Given the description of an element on the screen output the (x, y) to click on. 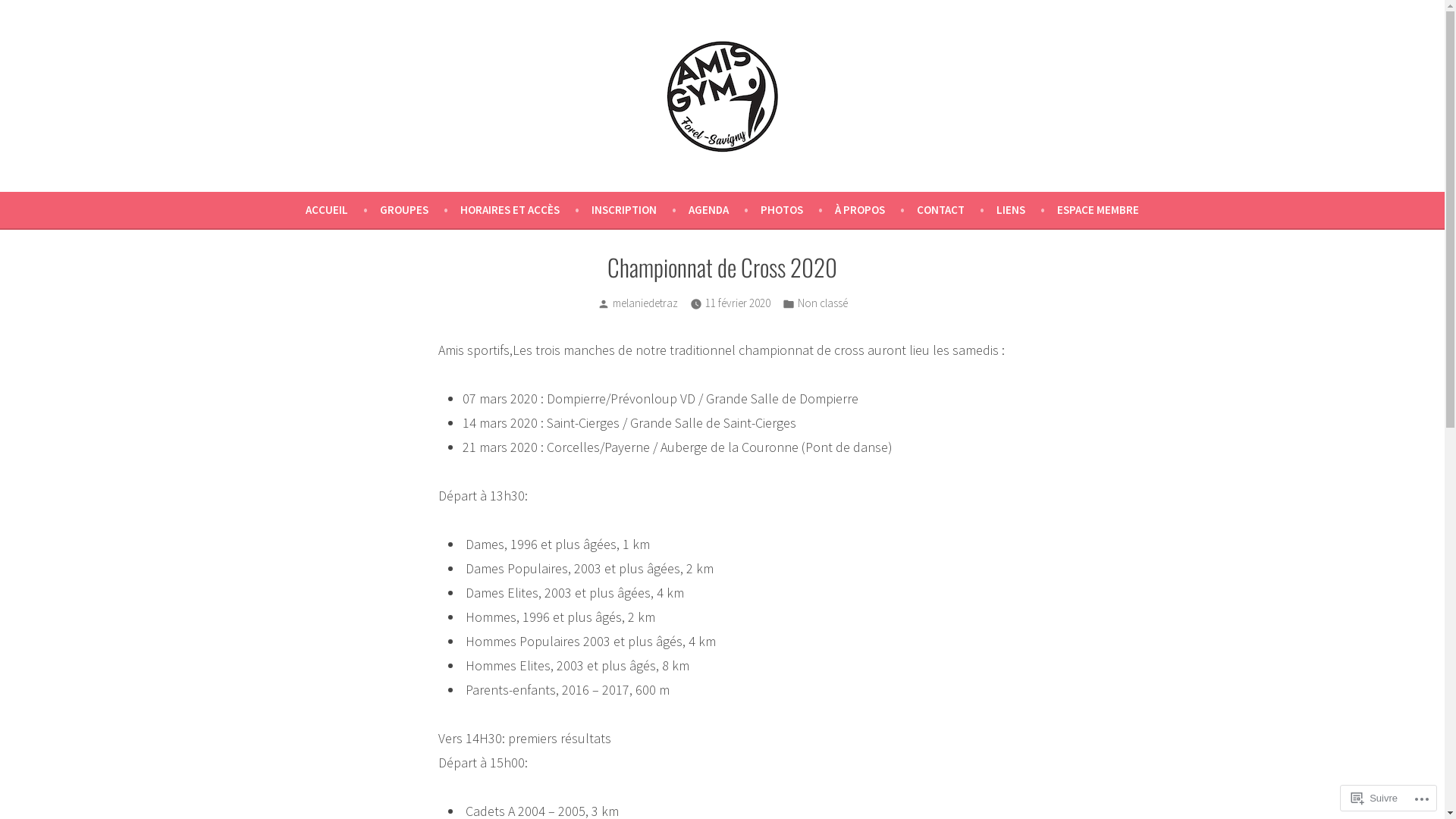
Suivre Element type: text (1374, 797)
Amis-Gym Forel-Savigny Element type: text (117, 170)
ESPACE MEMBRE Element type: text (1098, 209)
PHOTOS Element type: text (797, 209)
INSCRIPTION Element type: text (639, 209)
melaniedetraz Element type: text (644, 302)
GROUPES Element type: text (419, 209)
CONTACT Element type: text (956, 209)
AGENDA Element type: text (724, 209)
ACCUEIL Element type: text (342, 209)
LIENS Element type: text (1026, 209)
